Given the description of an element on the screen output the (x, y) to click on. 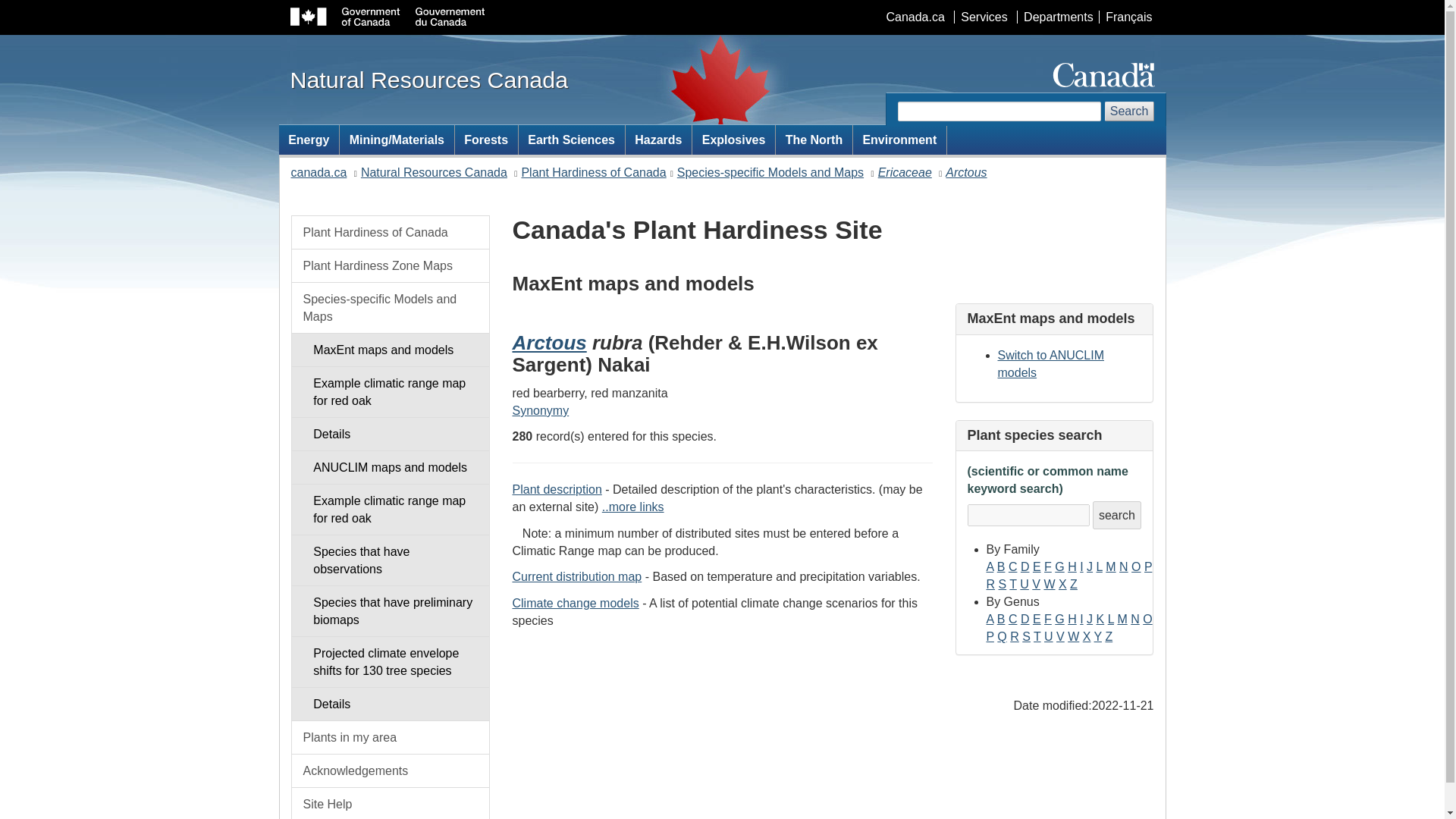
The North (813, 139)
Switch to ANUCLIM models (1050, 363)
Arctous (965, 172)
Current distribution map (577, 576)
Species-specific Models and Maps (770, 172)
Climate change models (575, 603)
canada.ca (319, 172)
Natural Resources Canada (428, 79)
Hazards (659, 139)
Earth Sciences (571, 139)
Search (1129, 111)
Departments (1057, 16)
search (1117, 515)
..more links (632, 506)
Services (983, 16)
